Given the description of an element on the screen output the (x, y) to click on. 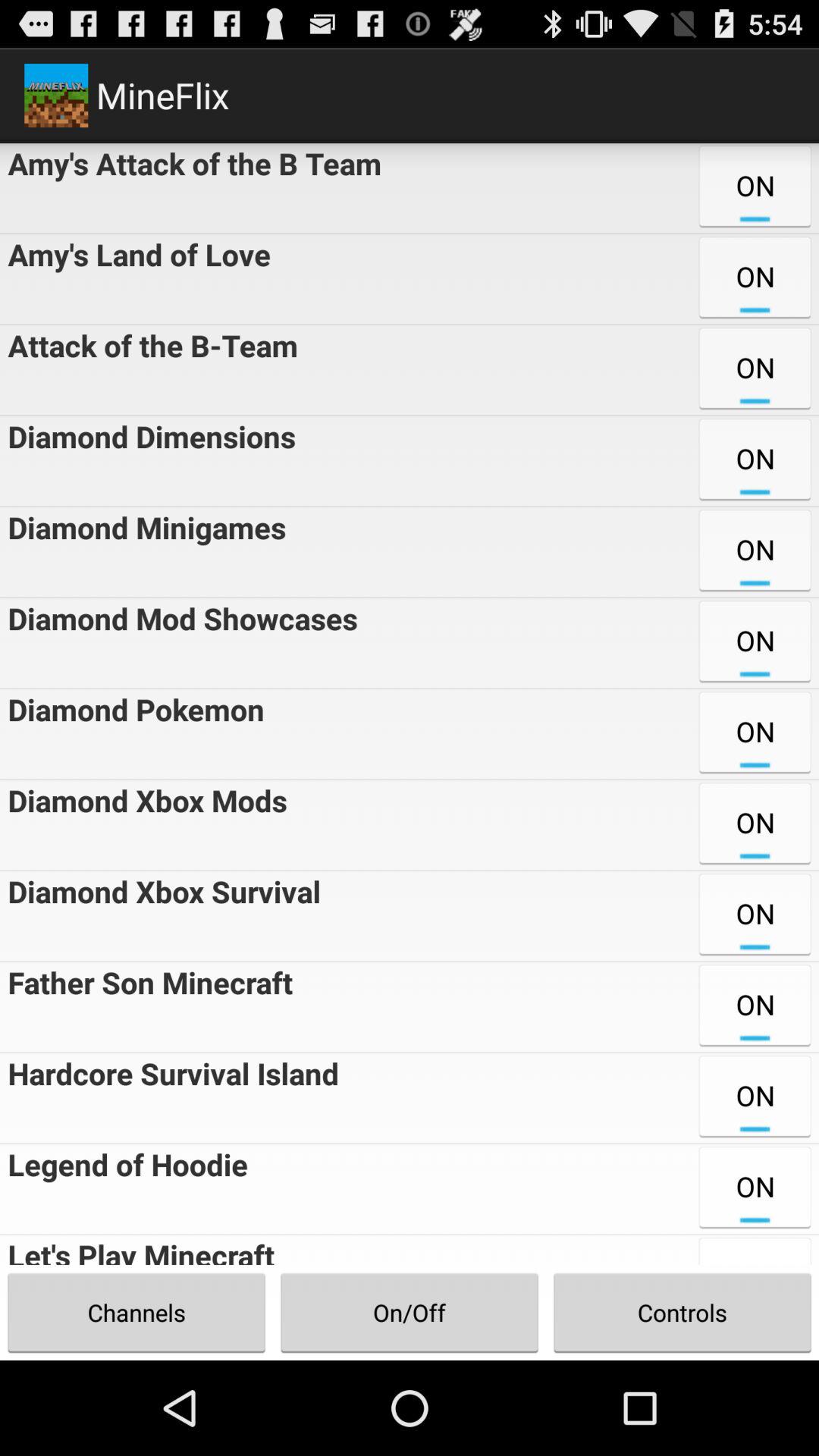
choose item to the left of the on item (169, 1098)
